Given the description of an element on the screen output the (x, y) to click on. 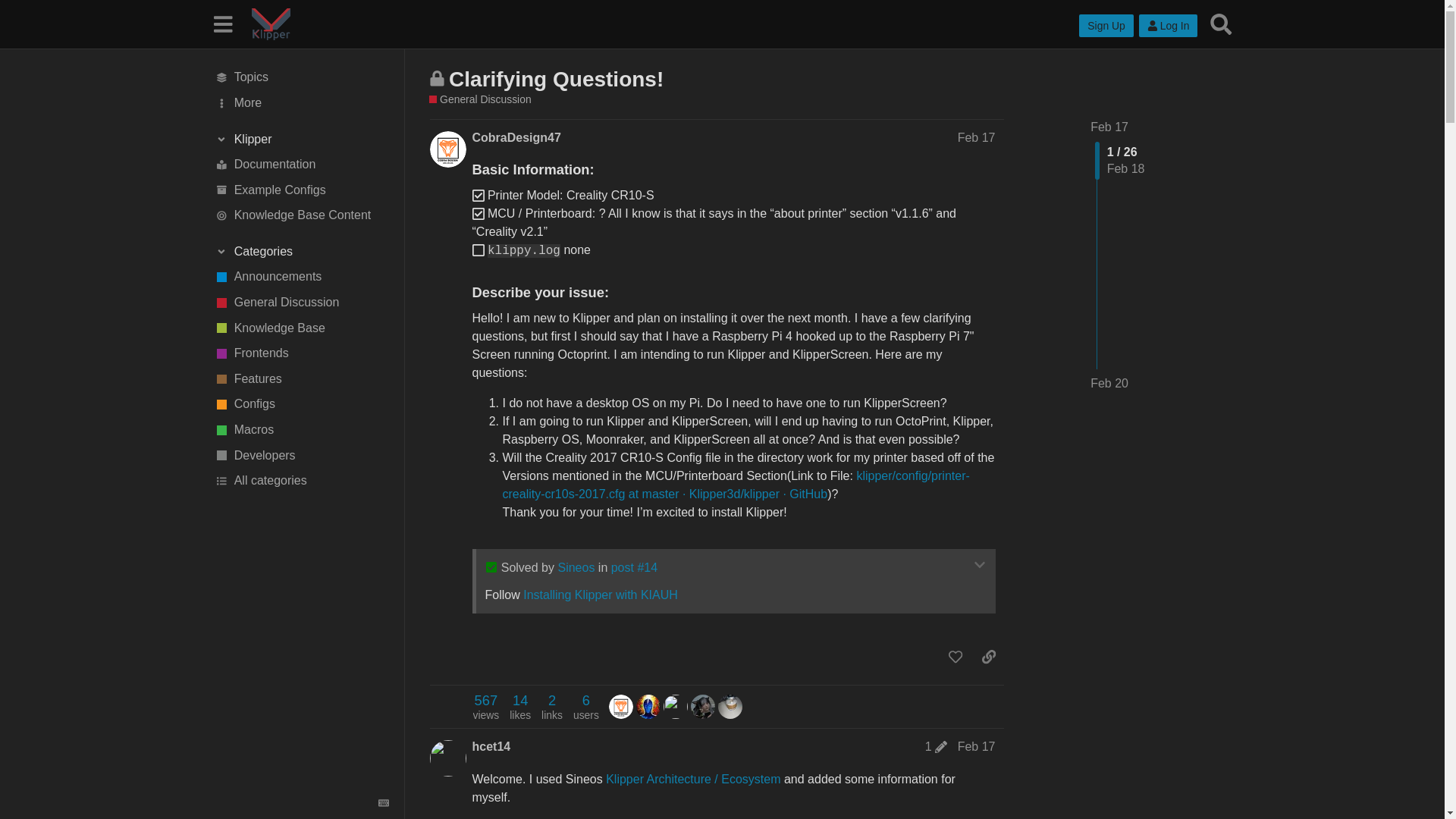
General Discussion (301, 302)
Klipper (301, 139)
Feb 17 (976, 137)
Documentation (301, 164)
Announcements (301, 277)
Feb 20 (1109, 383)
Knowledge Base (301, 328)
Developers (301, 455)
Log In (1168, 25)
Toggle section (301, 251)
